Given the description of an element on the screen output the (x, y) to click on. 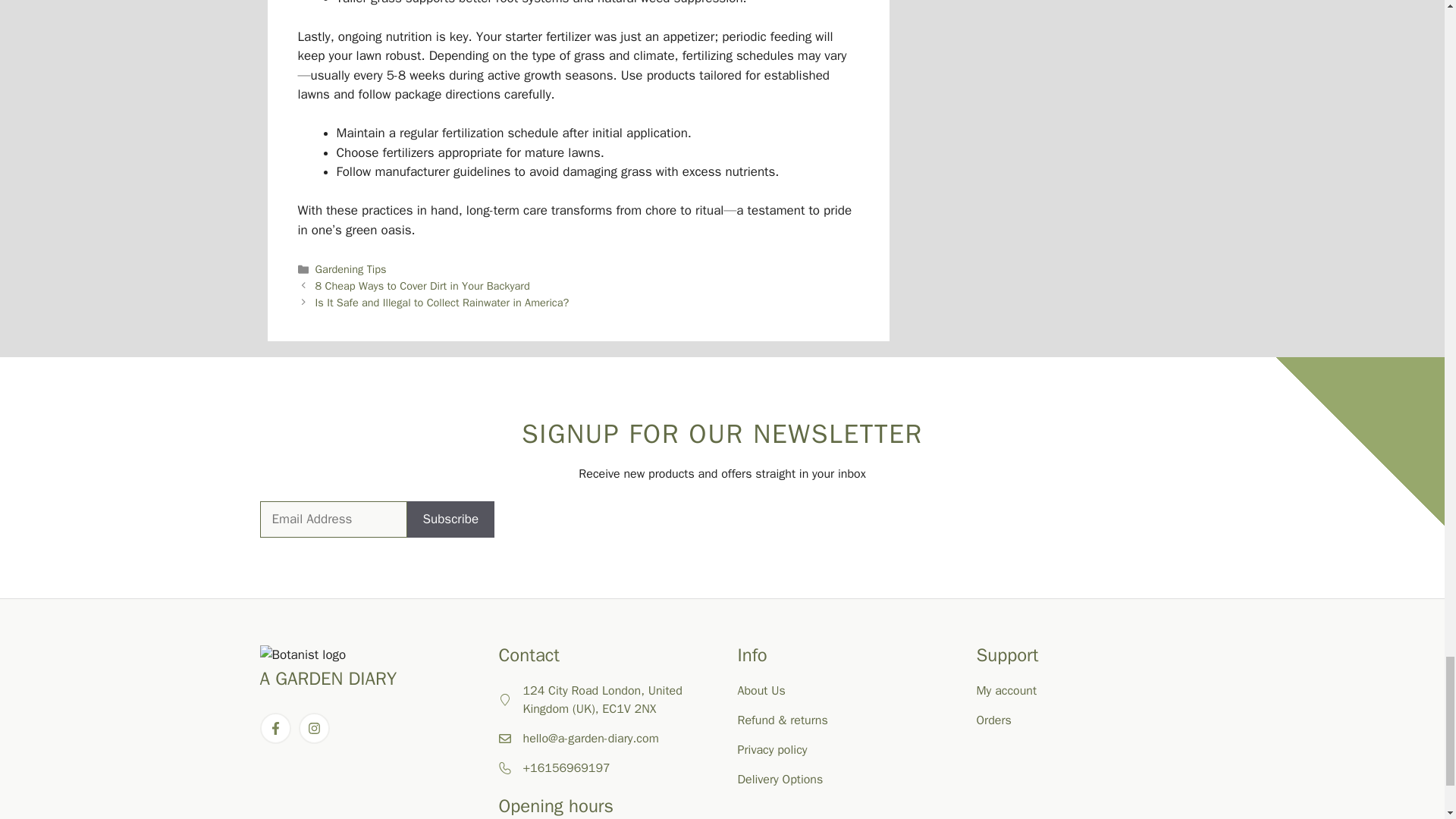
8 Cheap Ways to Cover Dirt in Your Backyard (422, 285)
Subscribe (450, 519)
Privacy policy (771, 749)
About Us (760, 690)
Is It Safe and Illegal to Collect Rainwater in America? (442, 302)
Botanist logo (302, 655)
Gardening Tips (351, 269)
Subscribe (450, 519)
My account (1006, 690)
Delivery Options (779, 779)
Orders (993, 720)
